Given the description of an element on the screen output the (x, y) to click on. 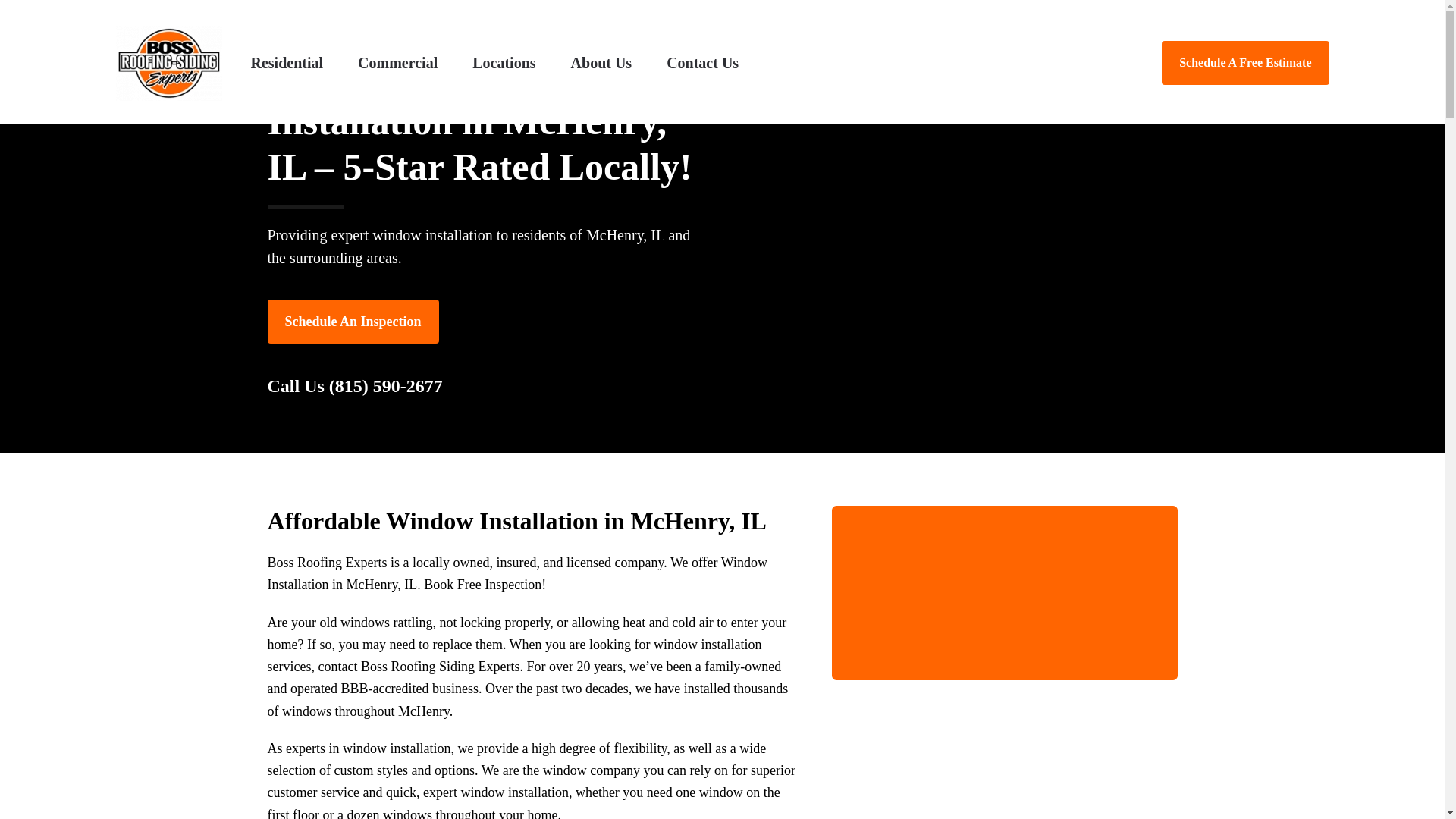
Schedule A Free Estimate (1004, 593)
